Given the description of an element on the screen output the (x, y) to click on. 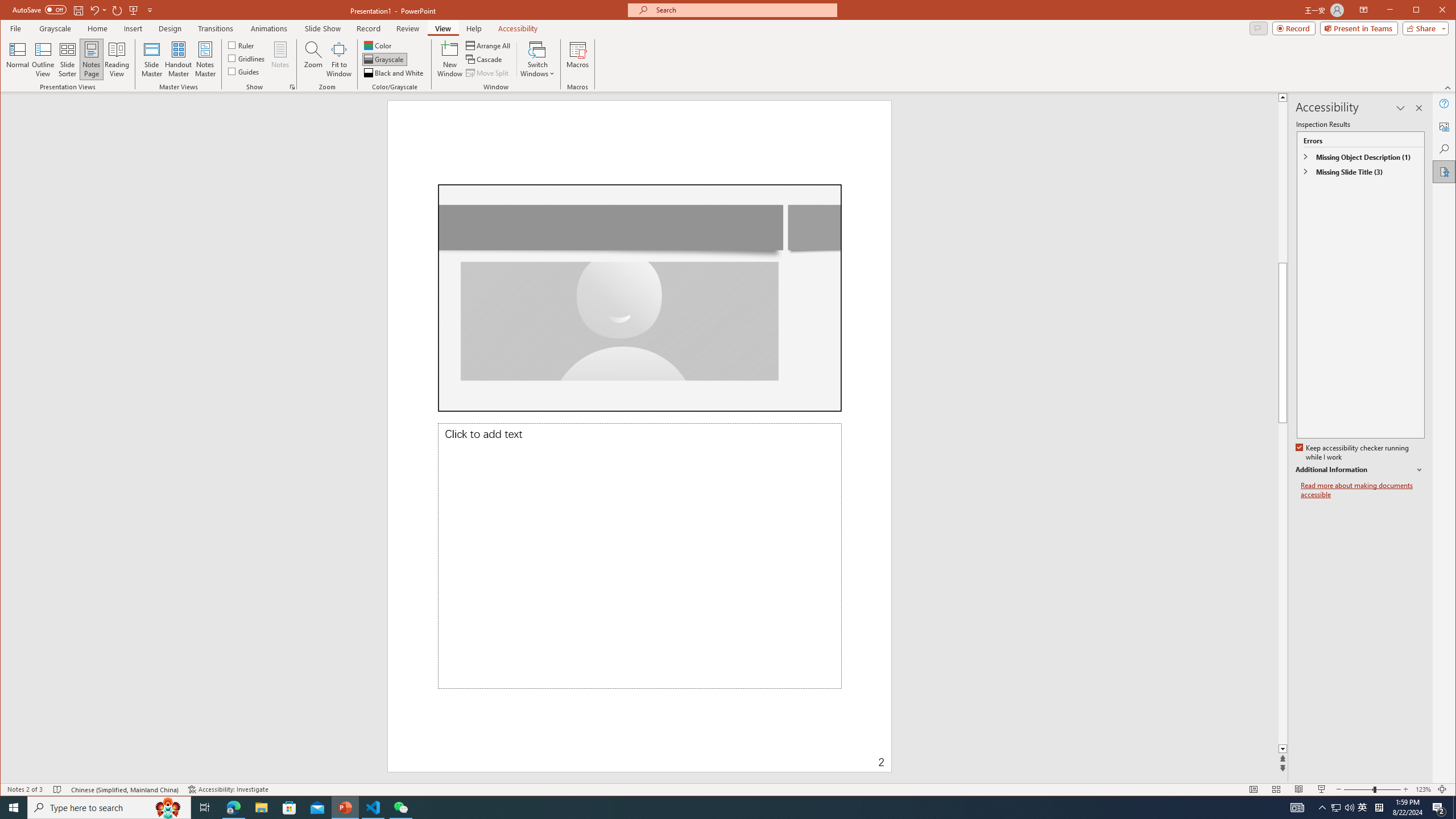
Alt Text (1444, 125)
Page up (1427, 181)
Ruler (241, 44)
Color (378, 45)
Type here to search (108, 807)
Microsoft Edge - 1 running window (233, 807)
